Given the description of an element on the screen output the (x, y) to click on. 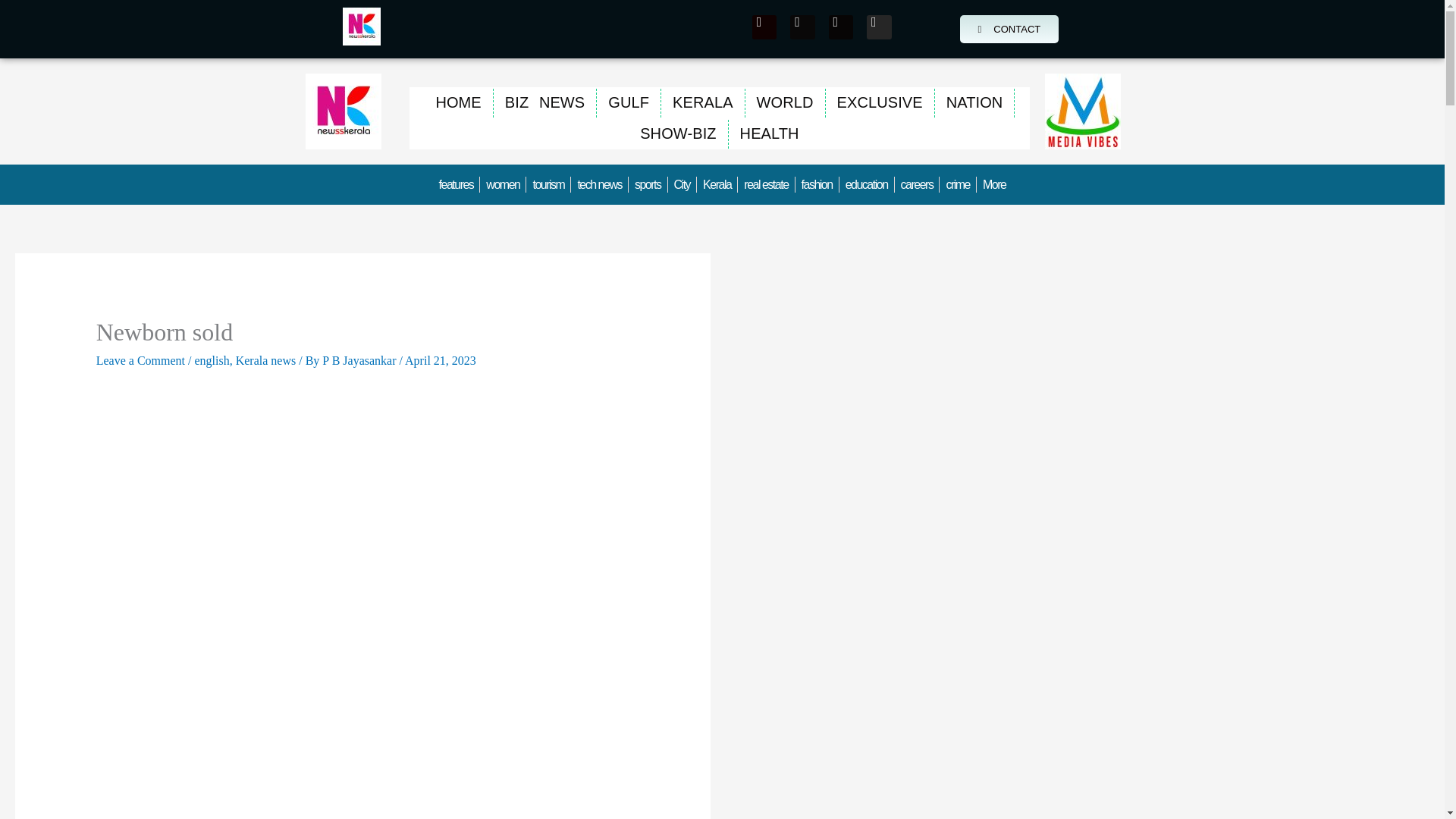
tech news (598, 184)
HEALTH (769, 133)
SHOW-BIZ (677, 133)
BIZ NEWS (544, 101)
KERALA (702, 101)
HOME (457, 101)
NATION (974, 101)
City (682, 184)
features (456, 184)
View all posts by P B Jayasankar (359, 359)
CONTACT (1009, 29)
EXCLUSIVE (879, 101)
WhatsApp Image 2023-02-26 at 9.49.20 AM (1083, 111)
GULF (628, 101)
sports (647, 184)
